Given the description of an element on the screen output the (x, y) to click on. 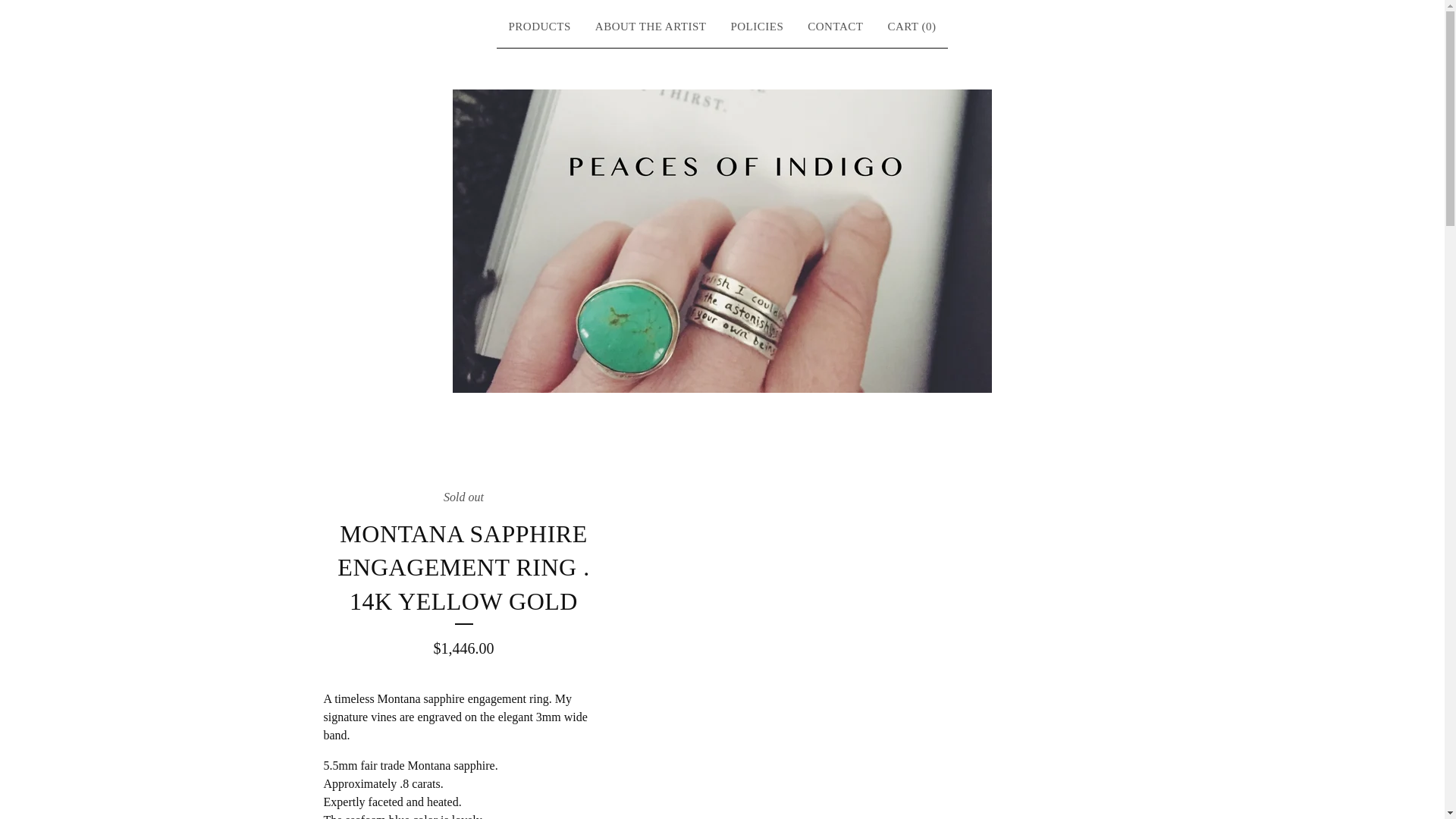
POLICIES (756, 26)
View About the Artist (651, 26)
PRODUCTS (539, 26)
CONTACT (835, 26)
View Policies (756, 26)
ABOUT THE ARTIST (651, 26)
